Given the description of an element on the screen output the (x, y) to click on. 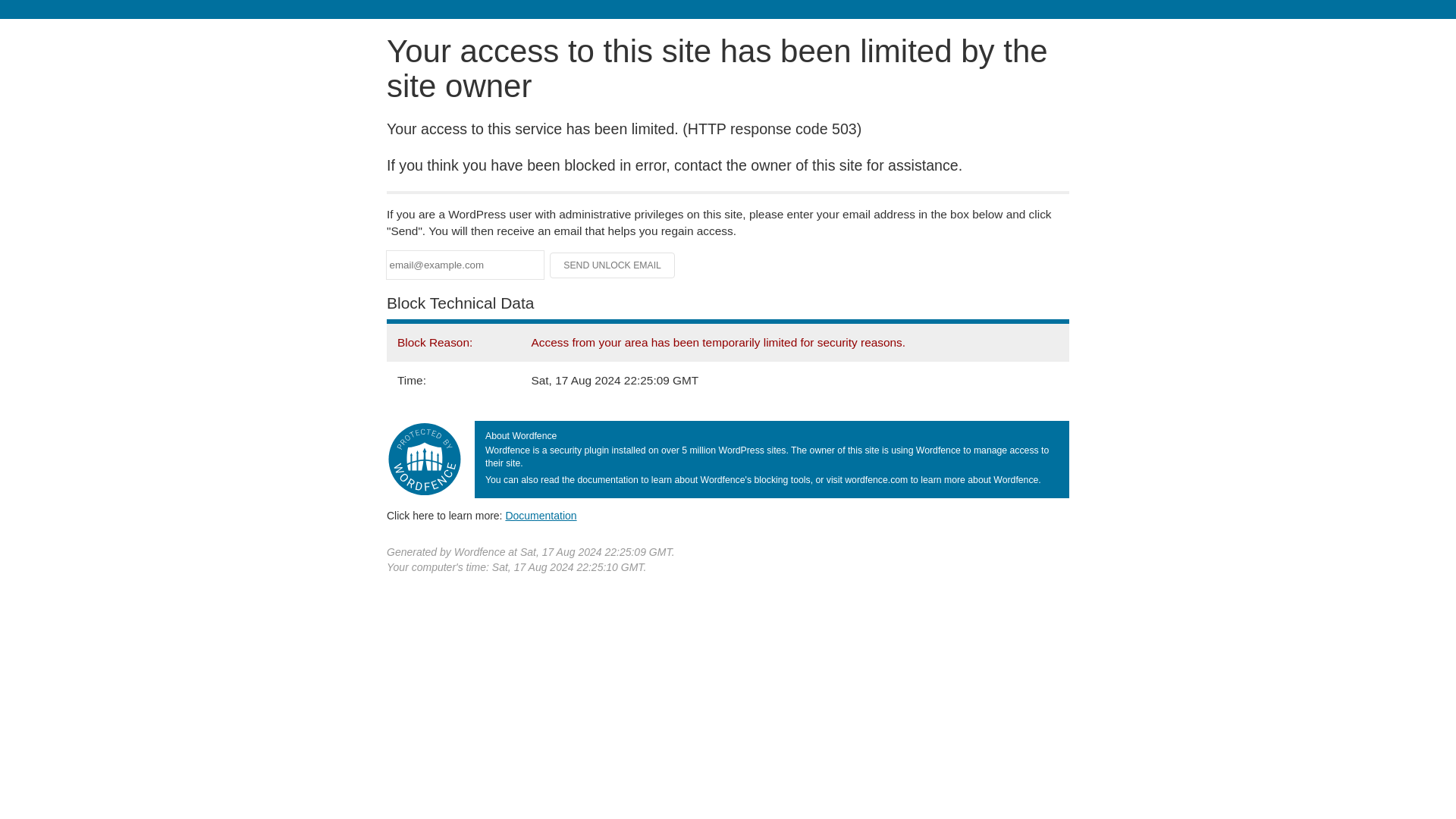
Send Unlock Email (612, 265)
Send Unlock Email (612, 265)
Documentation (540, 515)
